Given the description of an element on the screen output the (x, y) to click on. 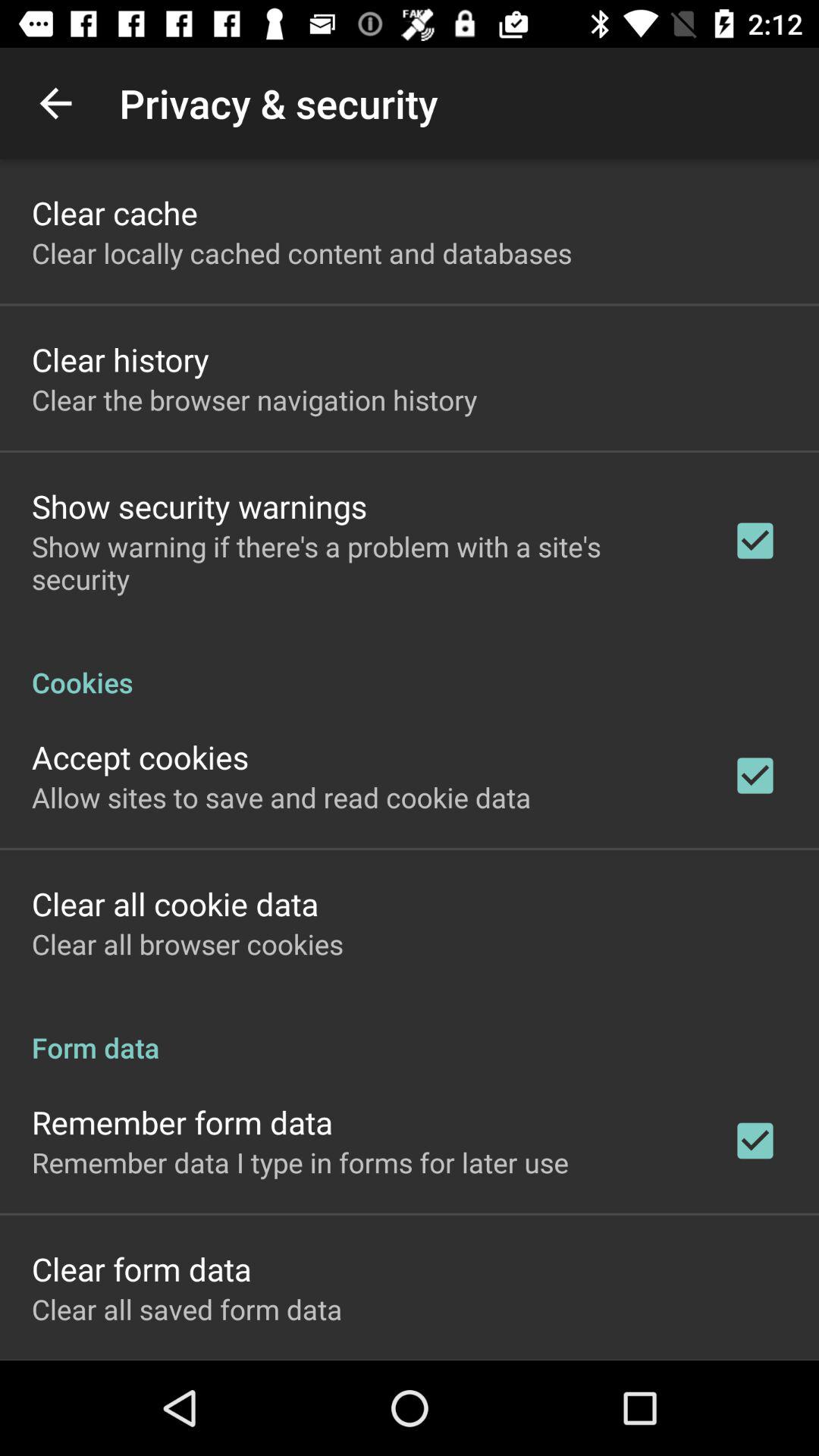
scroll to the show warning if app (361, 562)
